Given the description of an element on the screen output the (x, y) to click on. 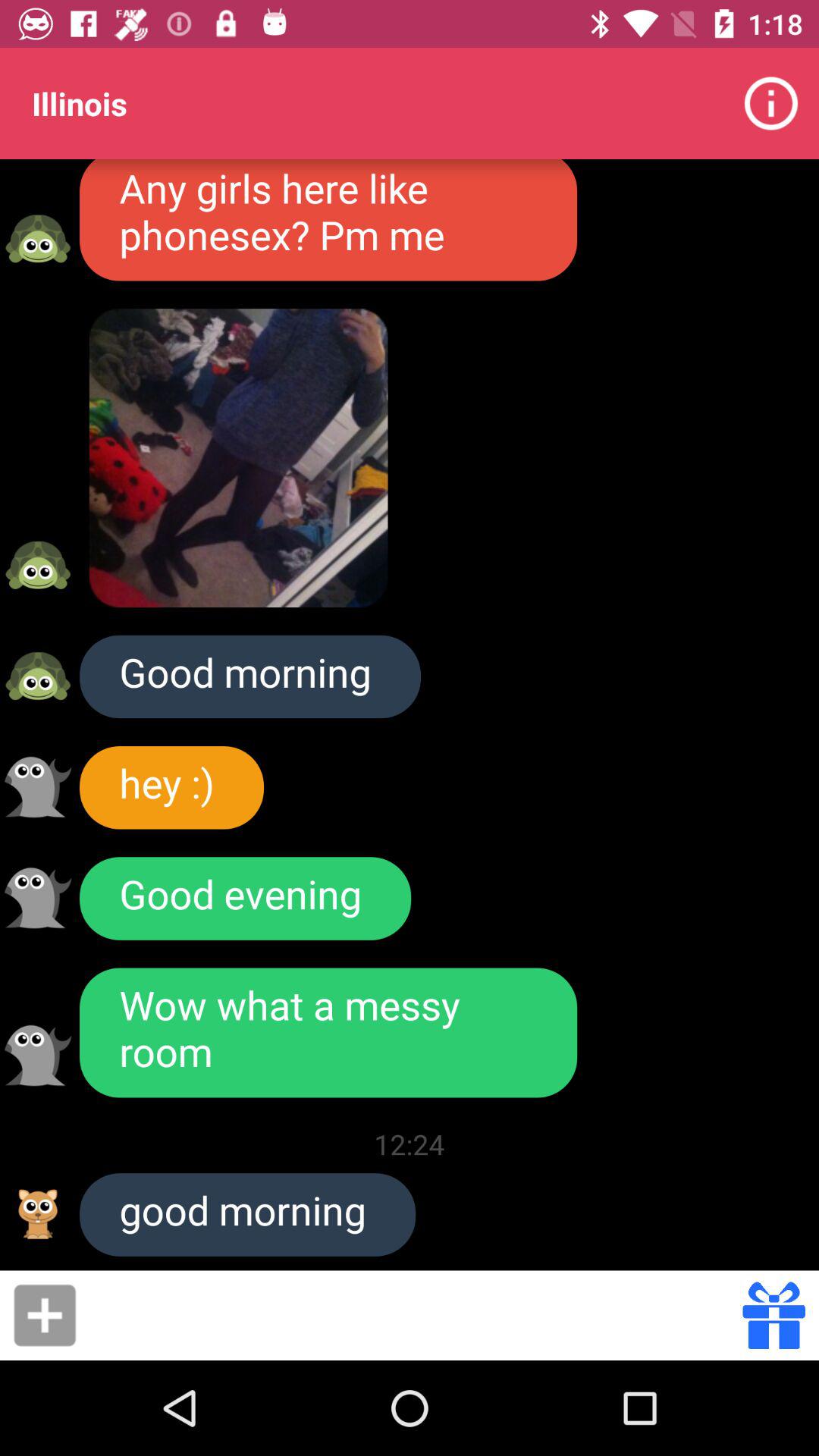
turn off the wow what a item (328, 1032)
